Given the description of an element on the screen output the (x, y) to click on. 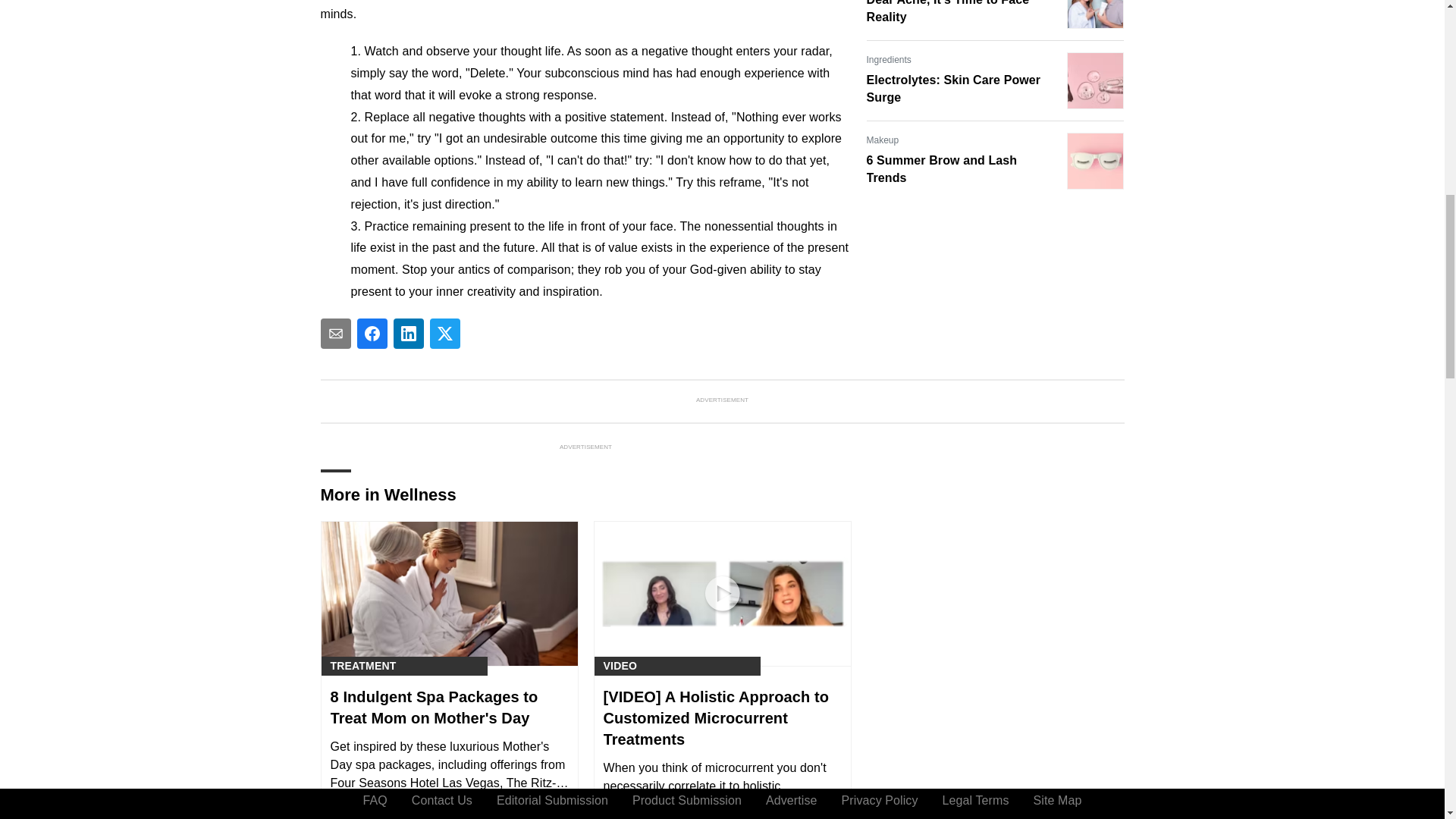
Share To twitter (444, 333)
Share To linkedin (408, 333)
Share To facebook (371, 333)
Share To email (335, 333)
